Given the description of an element on the screen output the (x, y) to click on. 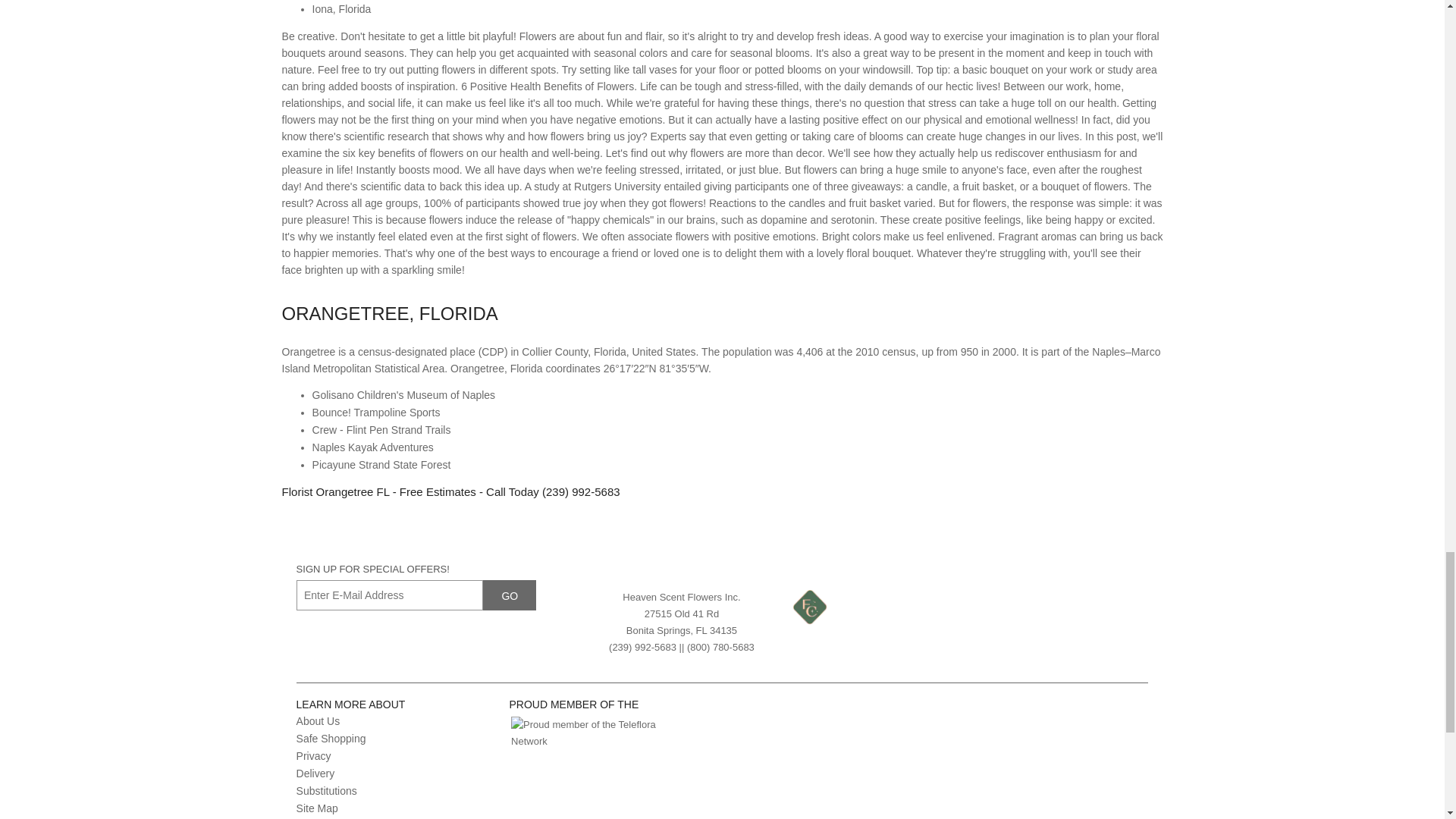
go (509, 594)
Go (509, 594)
Email Sign up (390, 594)
